Given the description of an element on the screen output the (x, y) to click on. 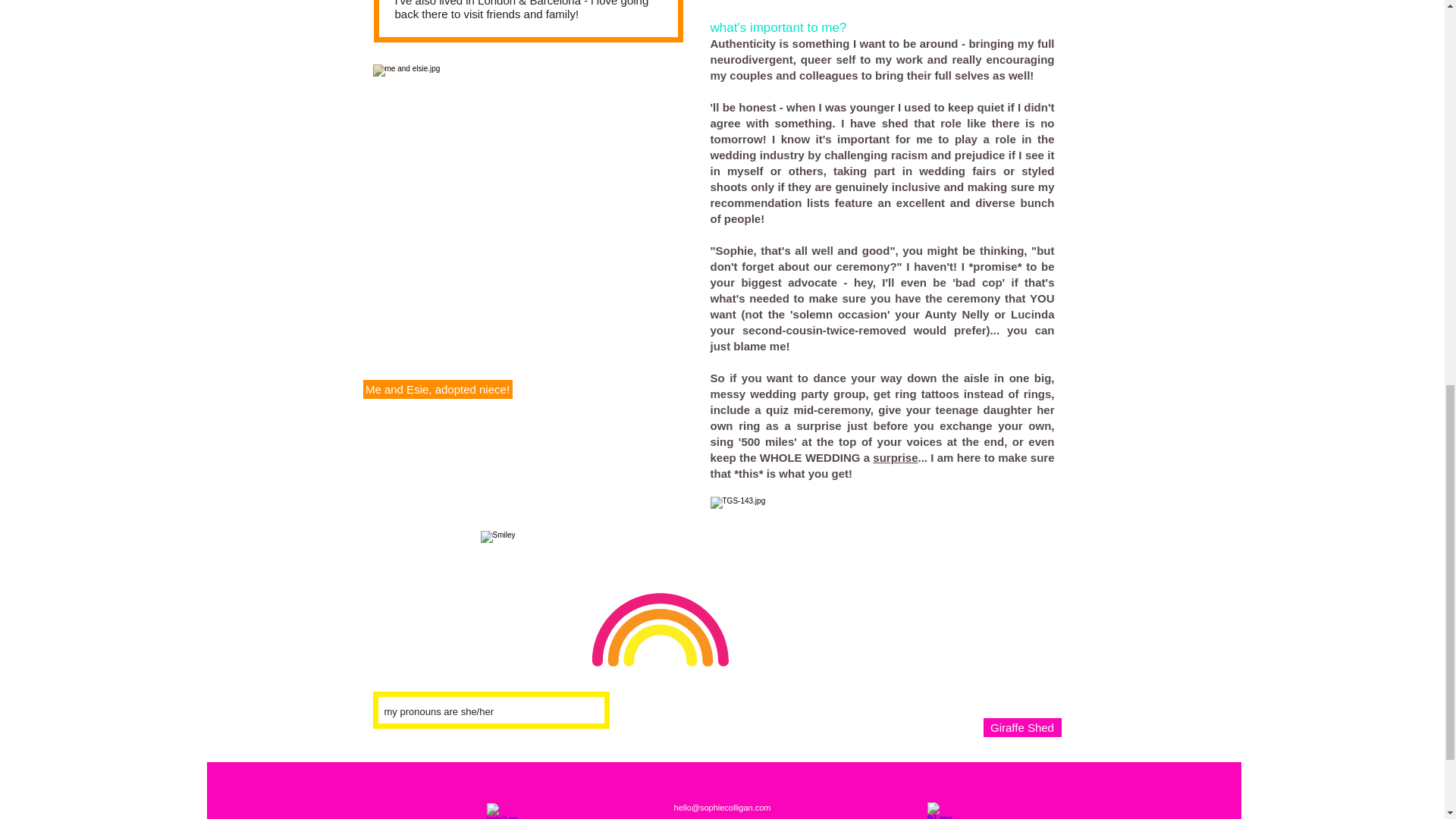
Giraffe Shed (1021, 727)
Me and Esie, adopted niece! (437, 389)
surprise (894, 457)
